Given the description of an element on the screen output the (x, y) to click on. 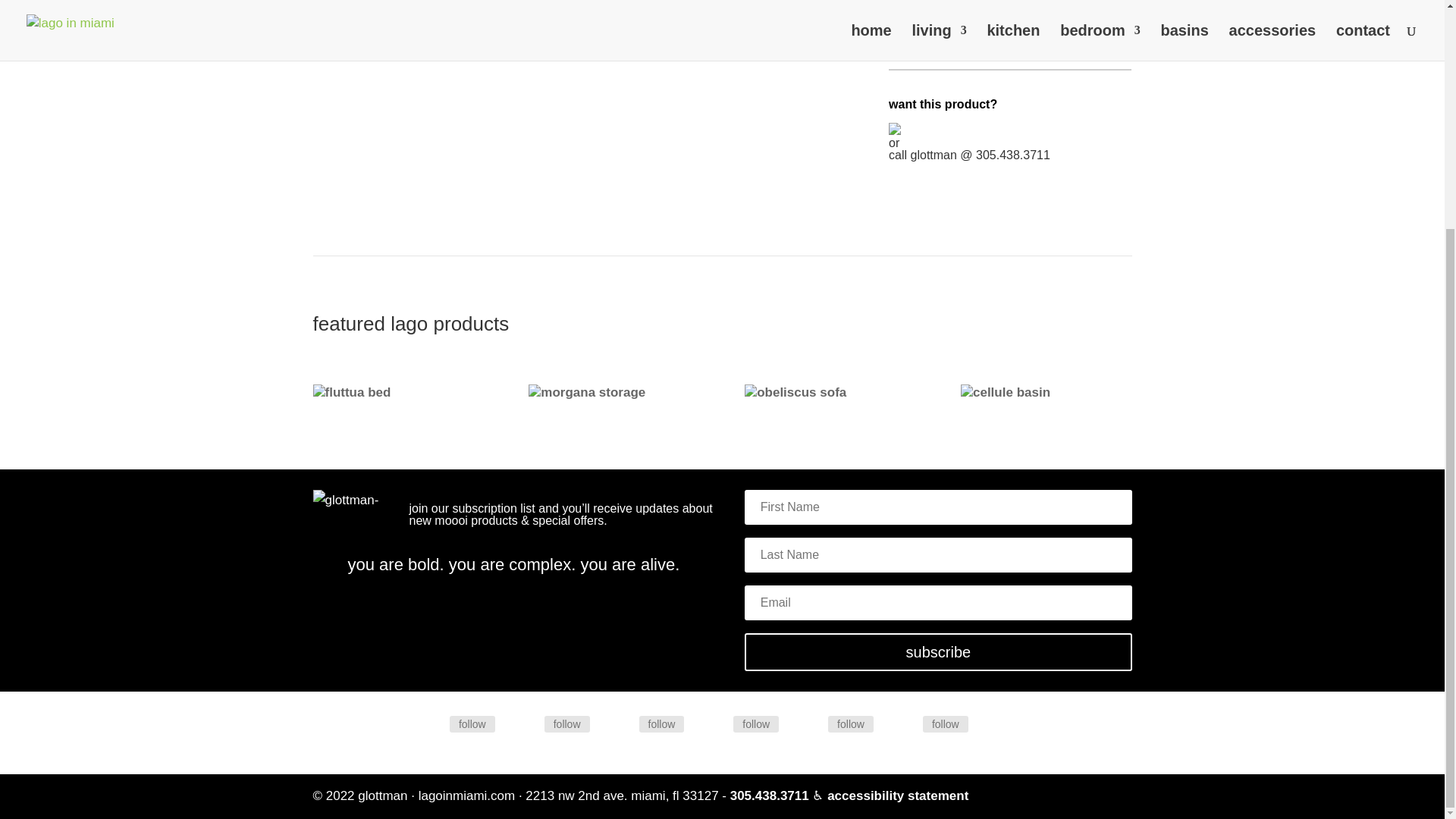
Follow on Pinterest (714, 723)
follow (661, 723)
Twitter (566, 723)
Follow on tumblr (809, 723)
follow (566, 723)
Pinterest (755, 723)
follow (755, 723)
305.438.3711 (769, 795)
Follow on Flickr (619, 723)
Facebook (472, 723)
